Given the description of an element on the screen output the (x, y) to click on. 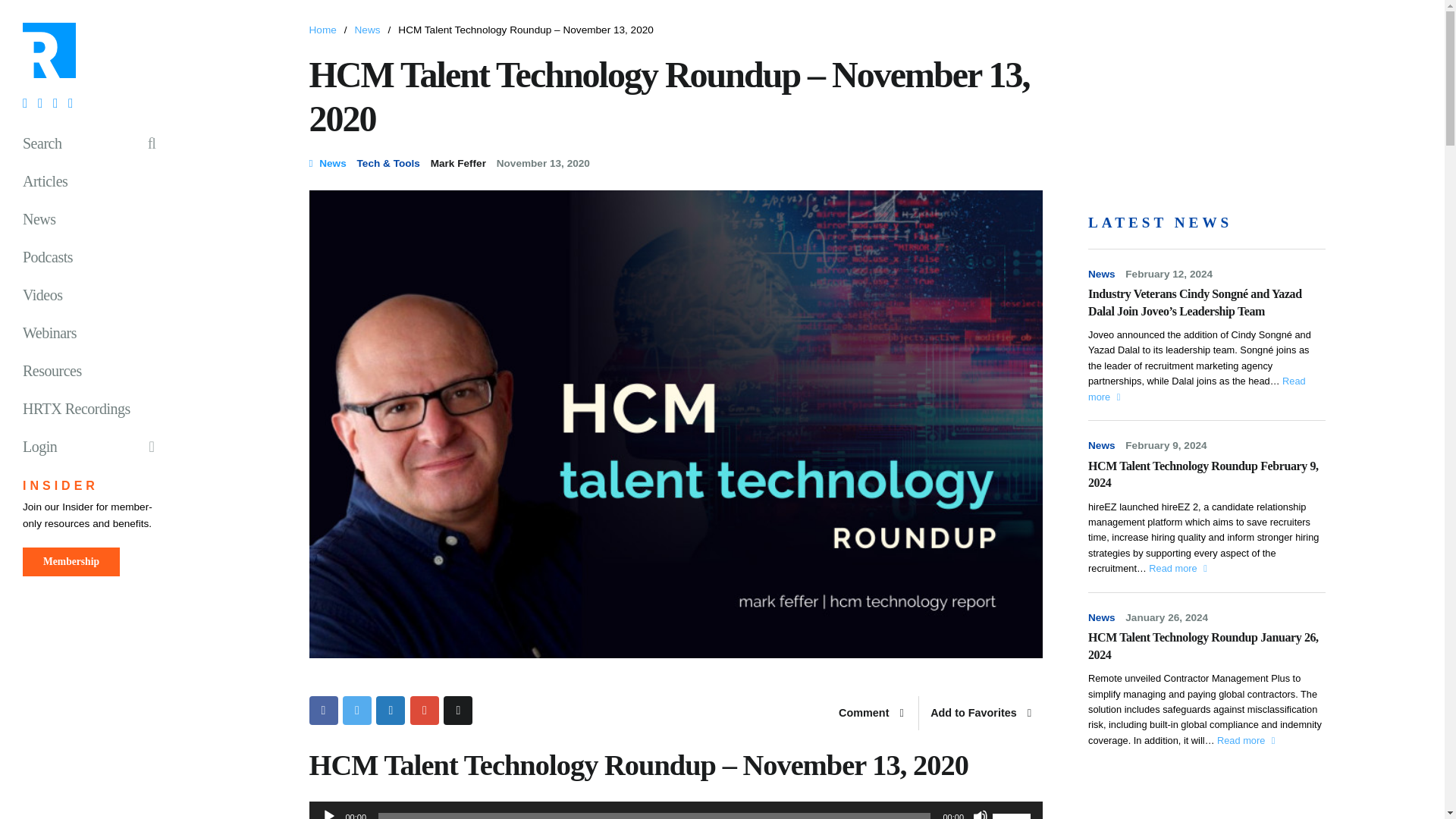
Membership (71, 561)
Add to Favorites (980, 713)
Articles (95, 180)
Podcasts (95, 257)
Add to Favorites (980, 713)
Mark Feffer (458, 163)
Home (322, 30)
Login (95, 446)
Resources (95, 370)
Comment (871, 713)
Comment (871, 713)
News (367, 30)
News (95, 218)
Mute (980, 814)
Search (95, 143)
